Given the description of an element on the screen output the (x, y) to click on. 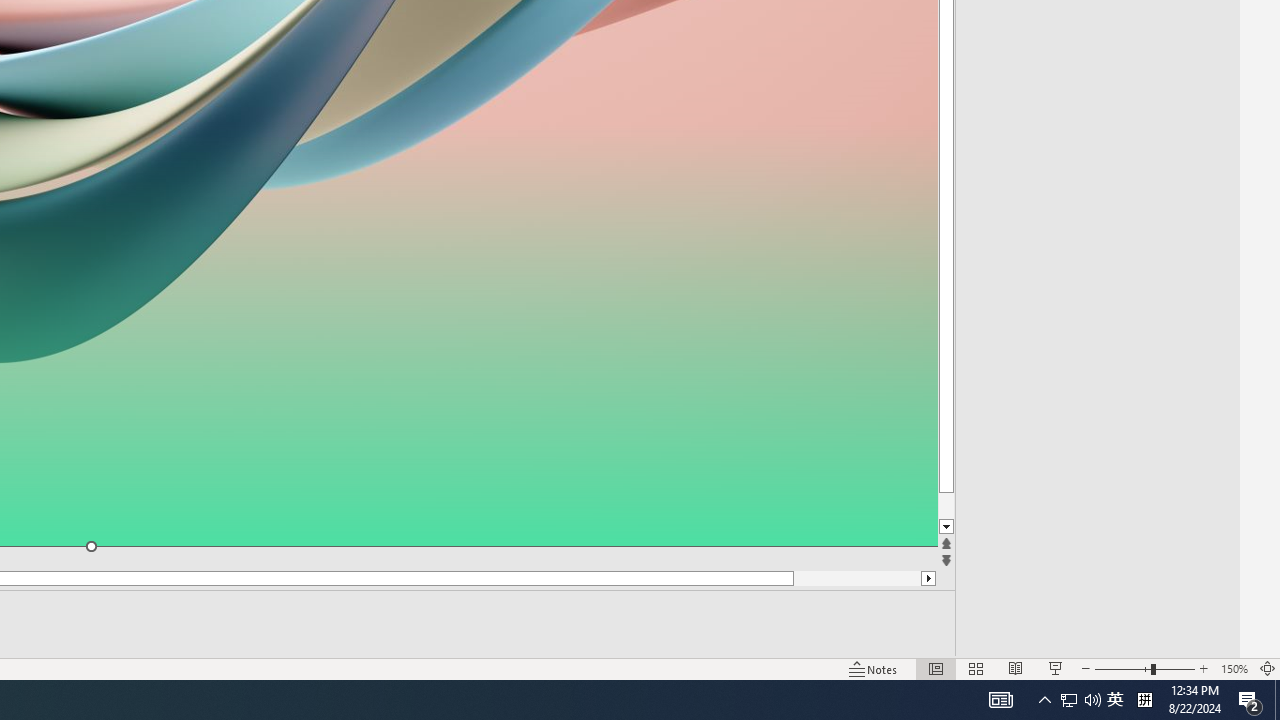
User Promoted Notification Area (1080, 699)
Action Center, 2 new notifications (1250, 699)
Q2790: 100% (1092, 699)
Zoom 150% (1234, 668)
Tray Input Indicator - Chinese (Simplified, China) (1144, 699)
Page down (983, 506)
AutomationID: 4105 (1000, 699)
